Given the description of an element on the screen output the (x, y) to click on. 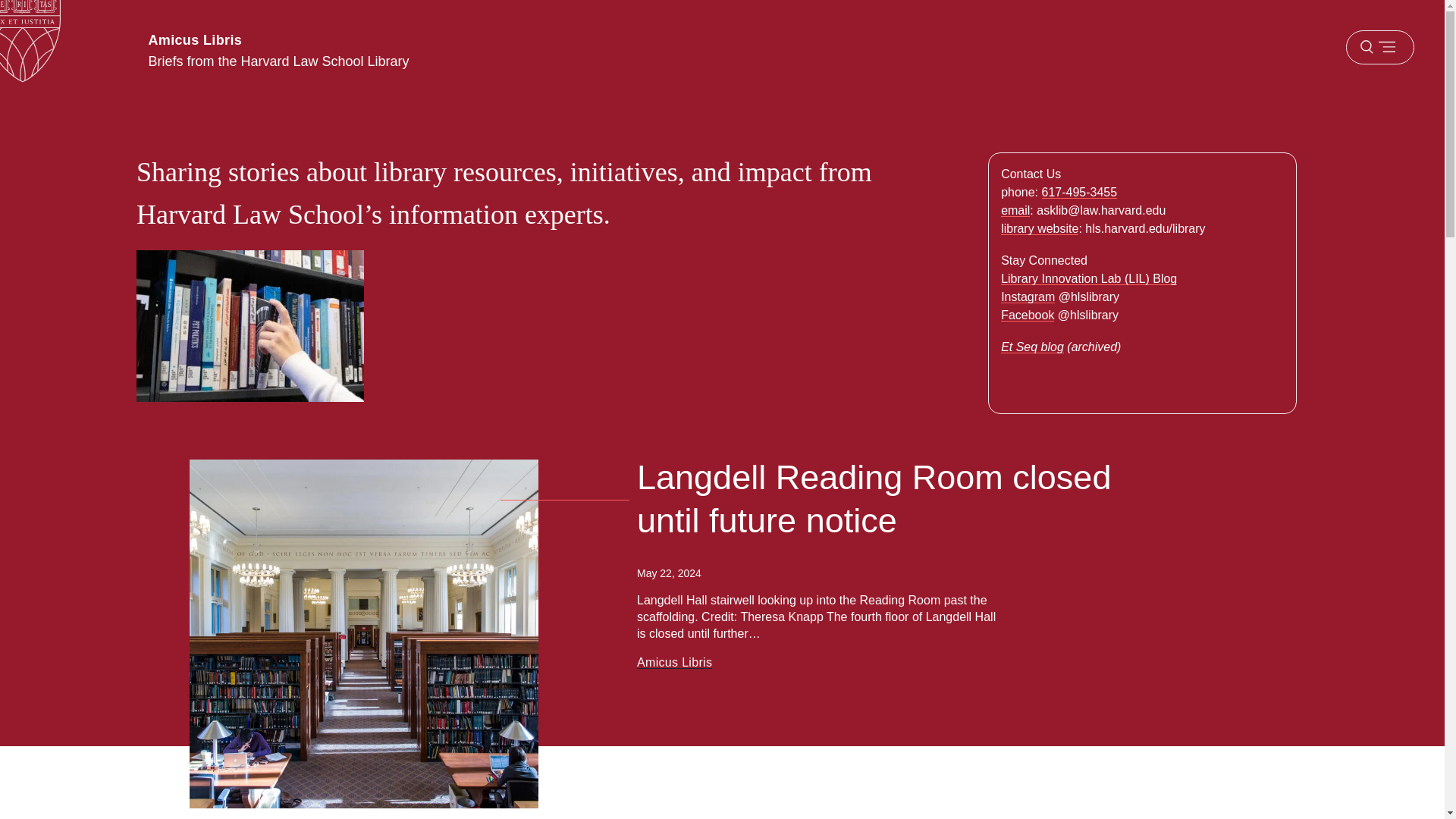
Open menu (1379, 47)
